Given the description of an element on the screen output the (x, y) to click on. 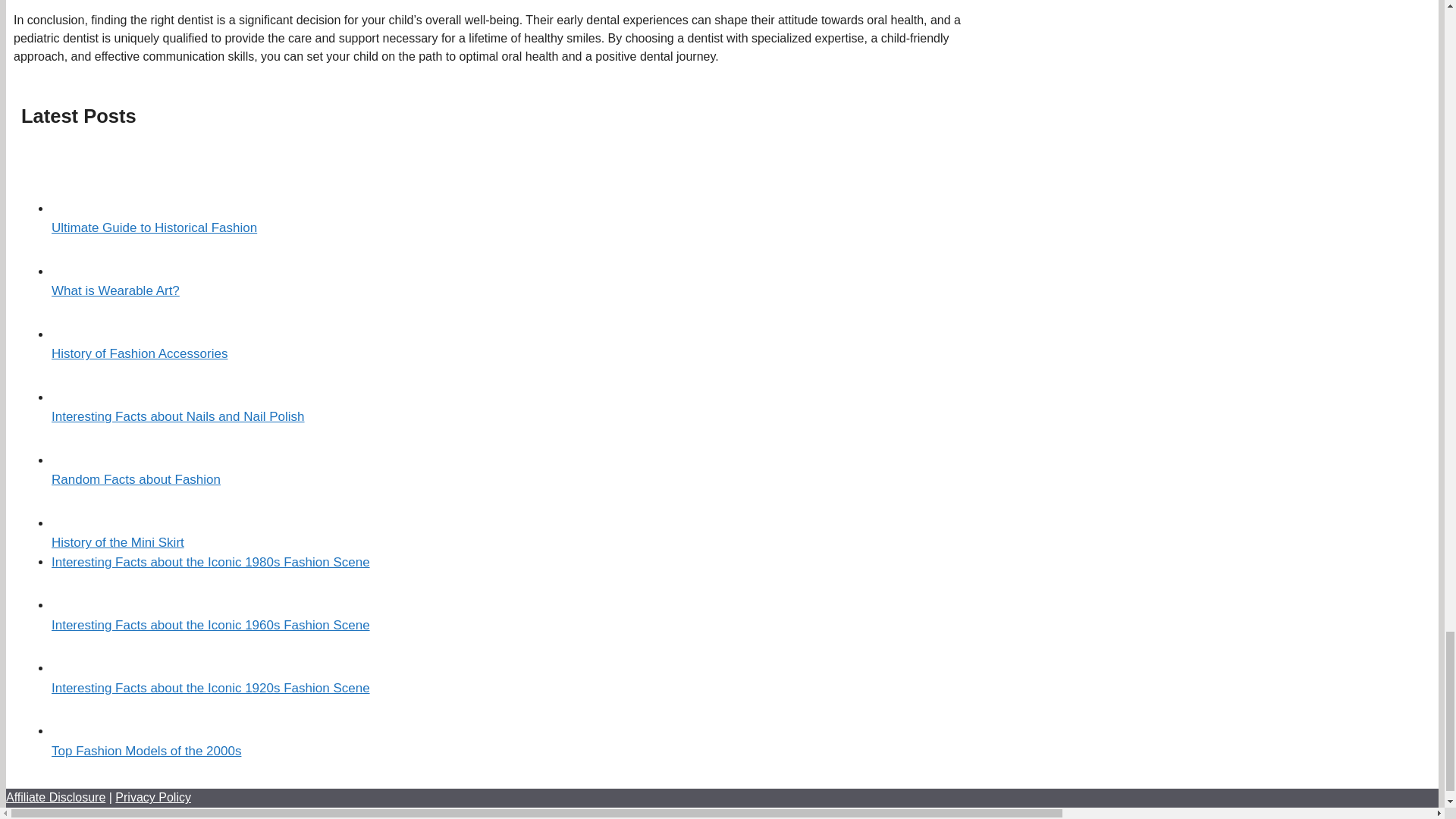
Random Facts about Fashion (135, 479)
Ultimate Guide to Historical Fashion (153, 227)
What is Wearable Art? (114, 290)
Interesting Facts about Nails and Nail Polish (177, 416)
Interesting Facts about the Iconic 1980s Fashion Scene (209, 562)
History of Fashion Accessories (138, 353)
History of the Mini Skirt (117, 542)
